Given the description of an element on the screen output the (x, y) to click on. 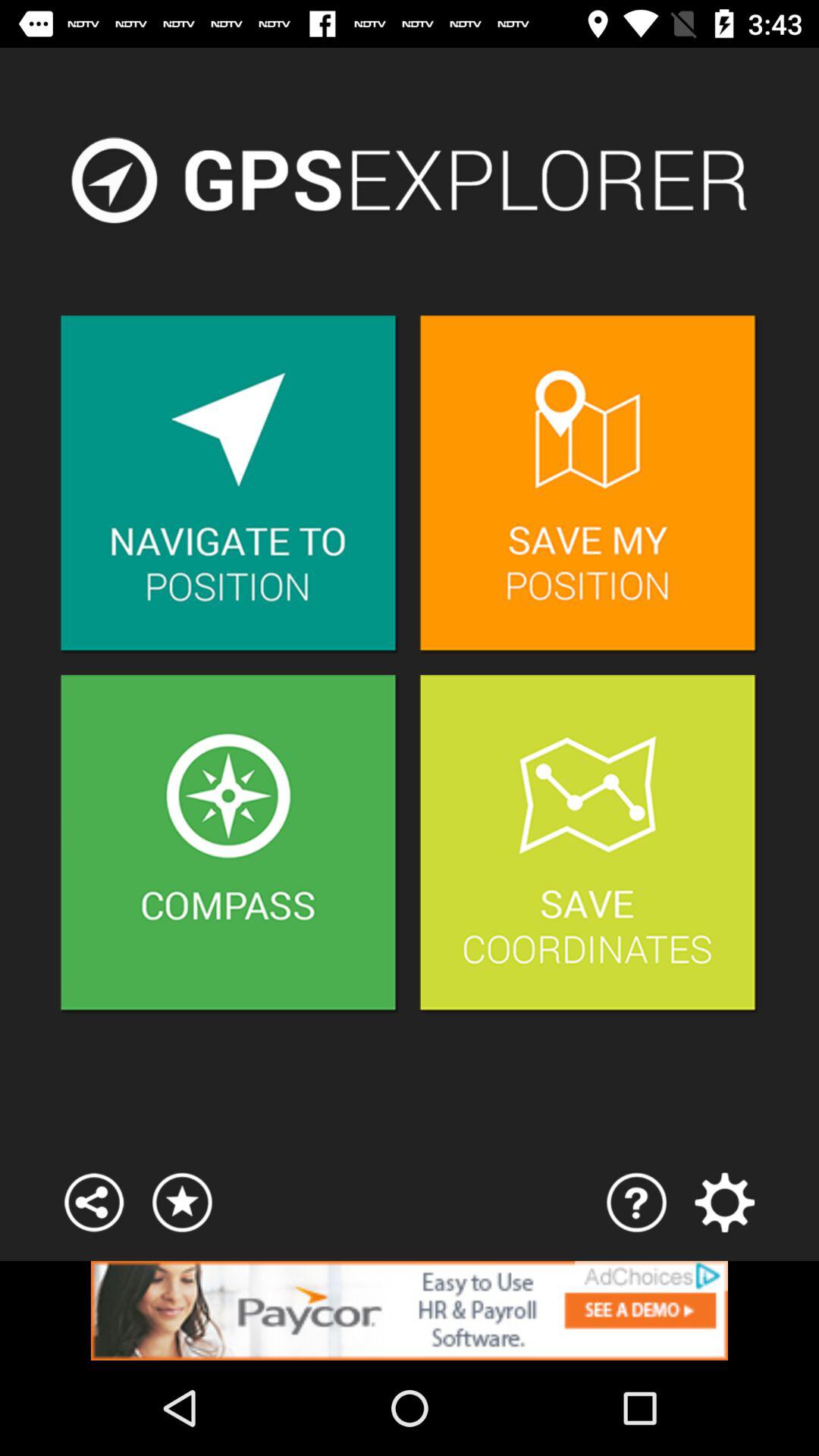
button image (588, 844)
